Given the description of an element on the screen output the (x, y) to click on. 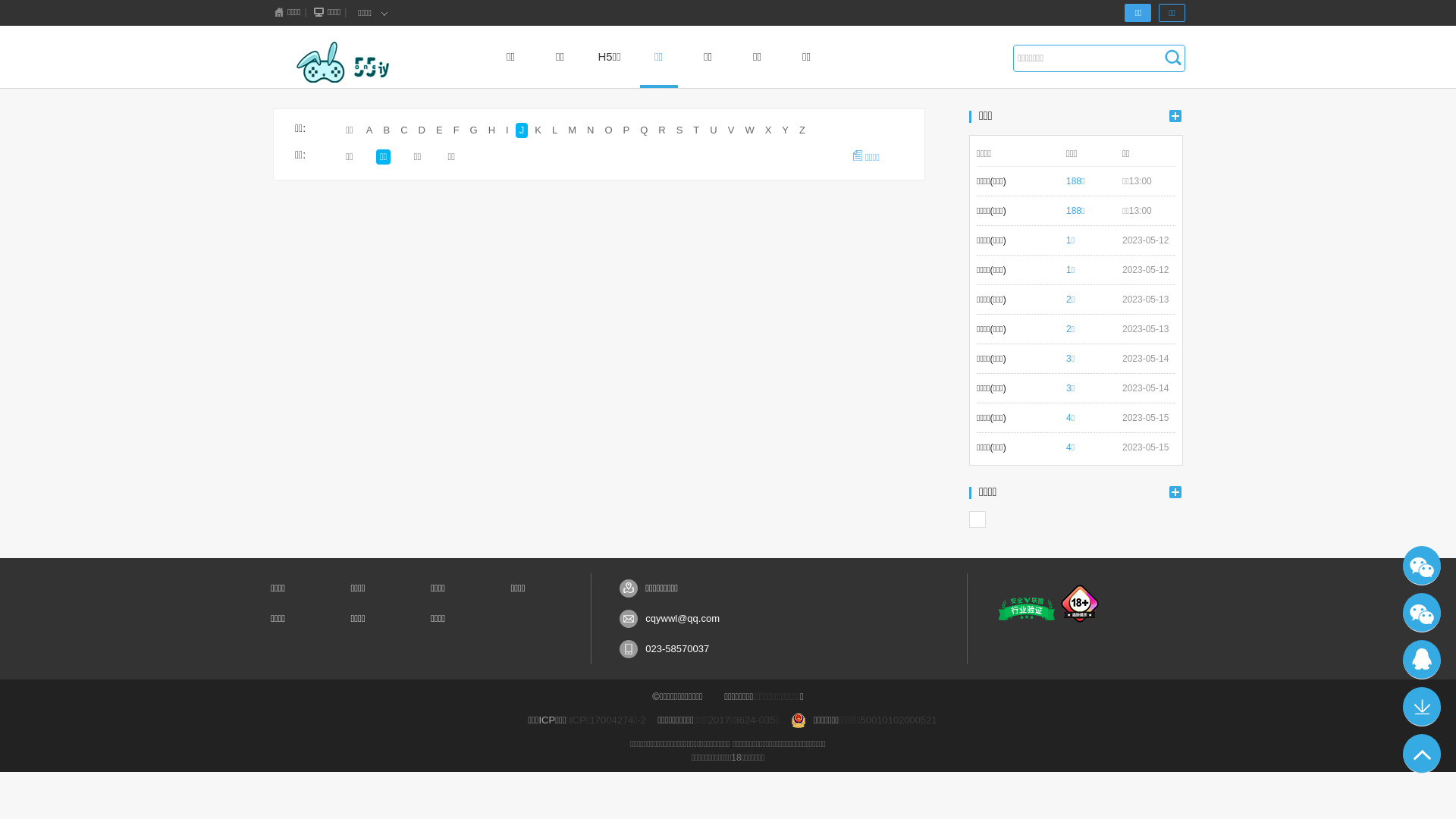
H Element type: text (491, 130)
A Element type: text (369, 130)
U Element type: text (713, 130)
M Element type: text (572, 130)
K Element type: text (537, 130)
I Element type: text (507, 130)
Q Element type: text (643, 130)
S Element type: text (679, 130)
C Element type: text (403, 130)
X Element type: text (768, 130)
V Element type: text (731, 130)
E Element type: text (439, 130)
G Element type: text (473, 130)
O Element type: text (607, 130)
W Element type: text (748, 130)
J Element type: text (521, 130)
B Element type: text (386, 130)
R Element type: text (661, 130)
N Element type: text (590, 130)
F Element type: text (456, 130)
Y Element type: text (785, 130)
Z Element type: text (802, 130)
P Element type: text (625, 130)
T Element type: text (695, 130)
D Element type: text (421, 130)
L Element type: text (554, 130)
